Given the description of an element on the screen output the (x, y) to click on. 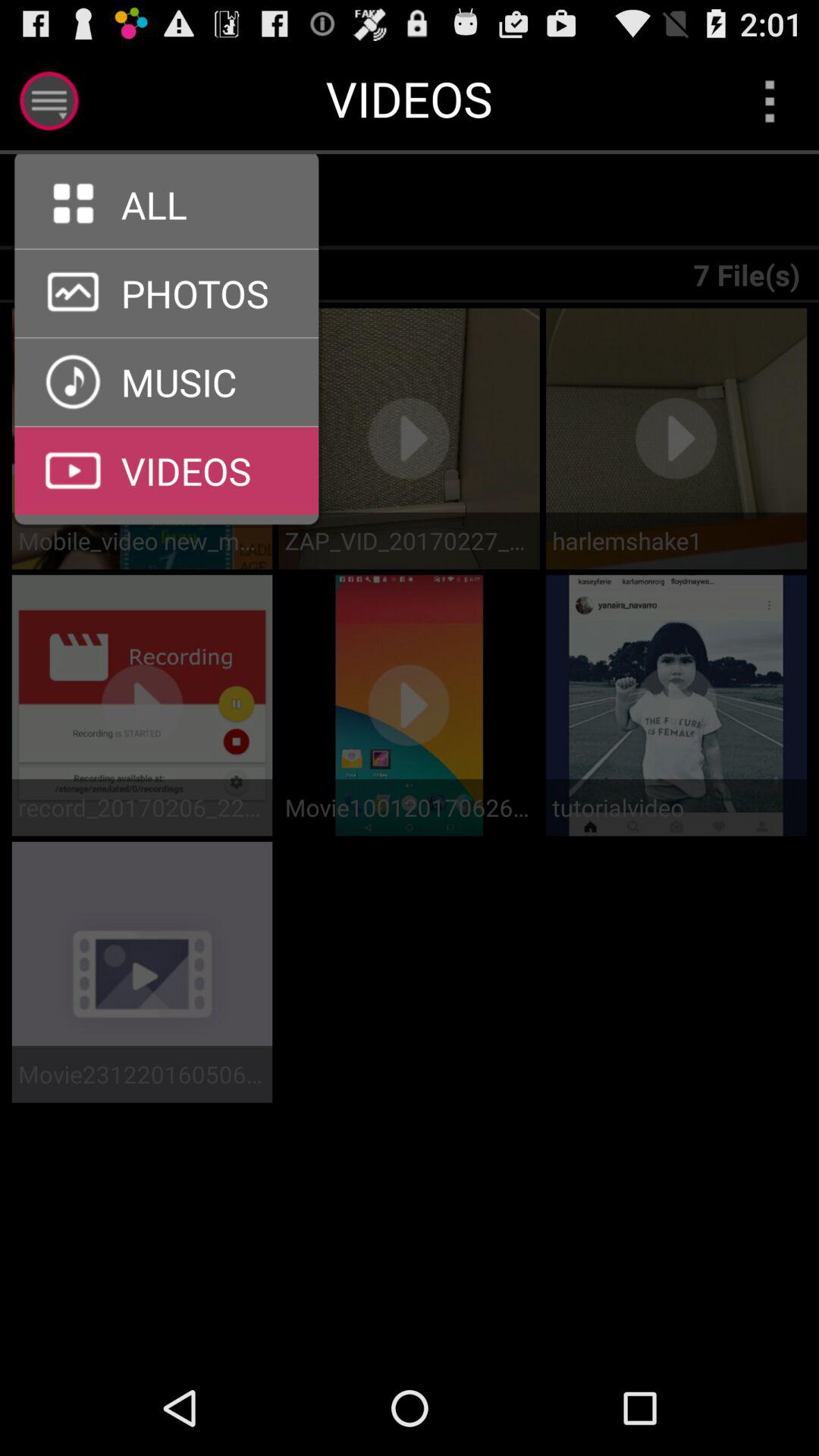
select app above the all devices app (176, 201)
